Given the description of an element on the screen output the (x, y) to click on. 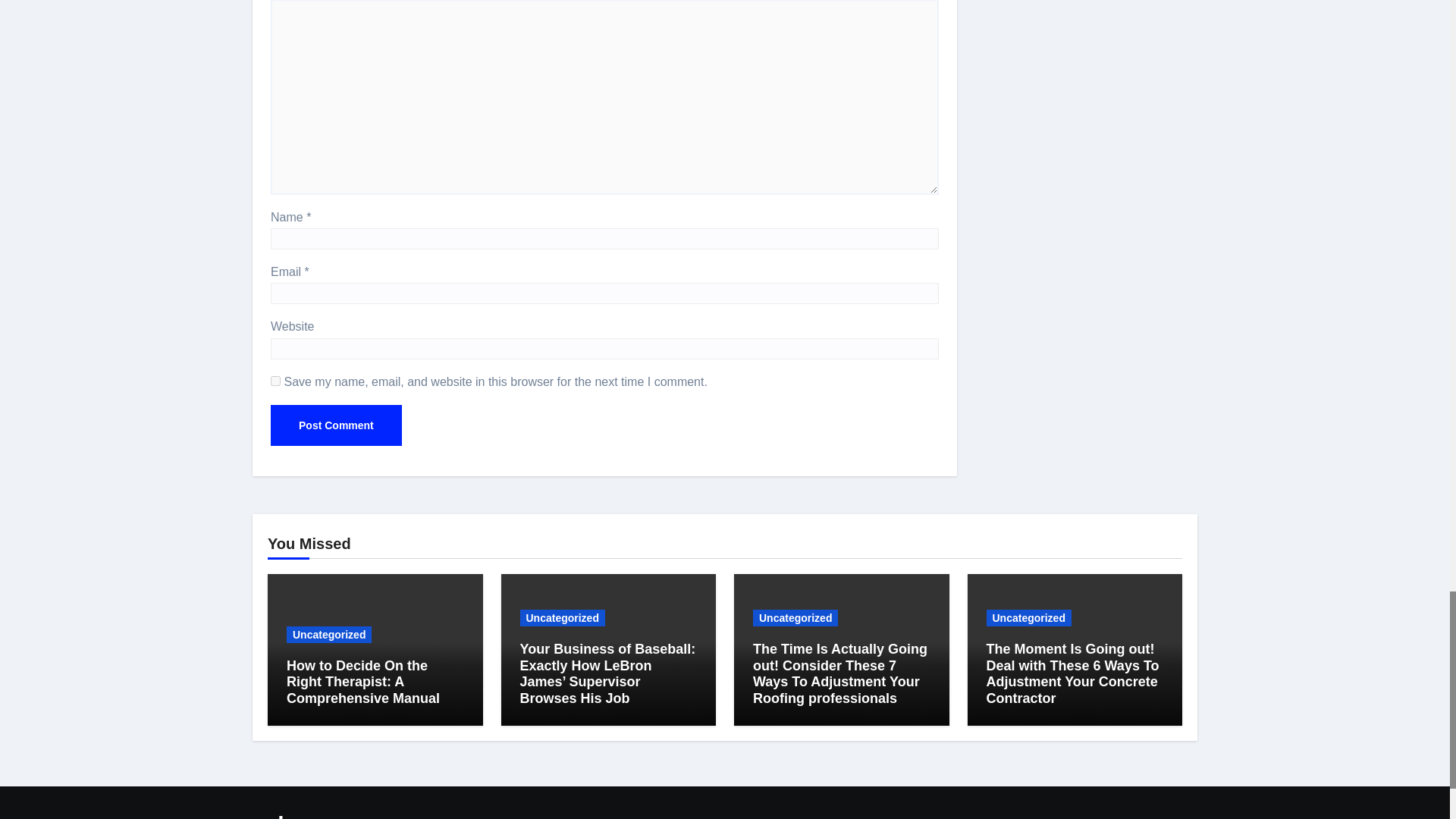
yes (275, 380)
Post Comment (335, 424)
